Given the description of an element on the screen output the (x, y) to click on. 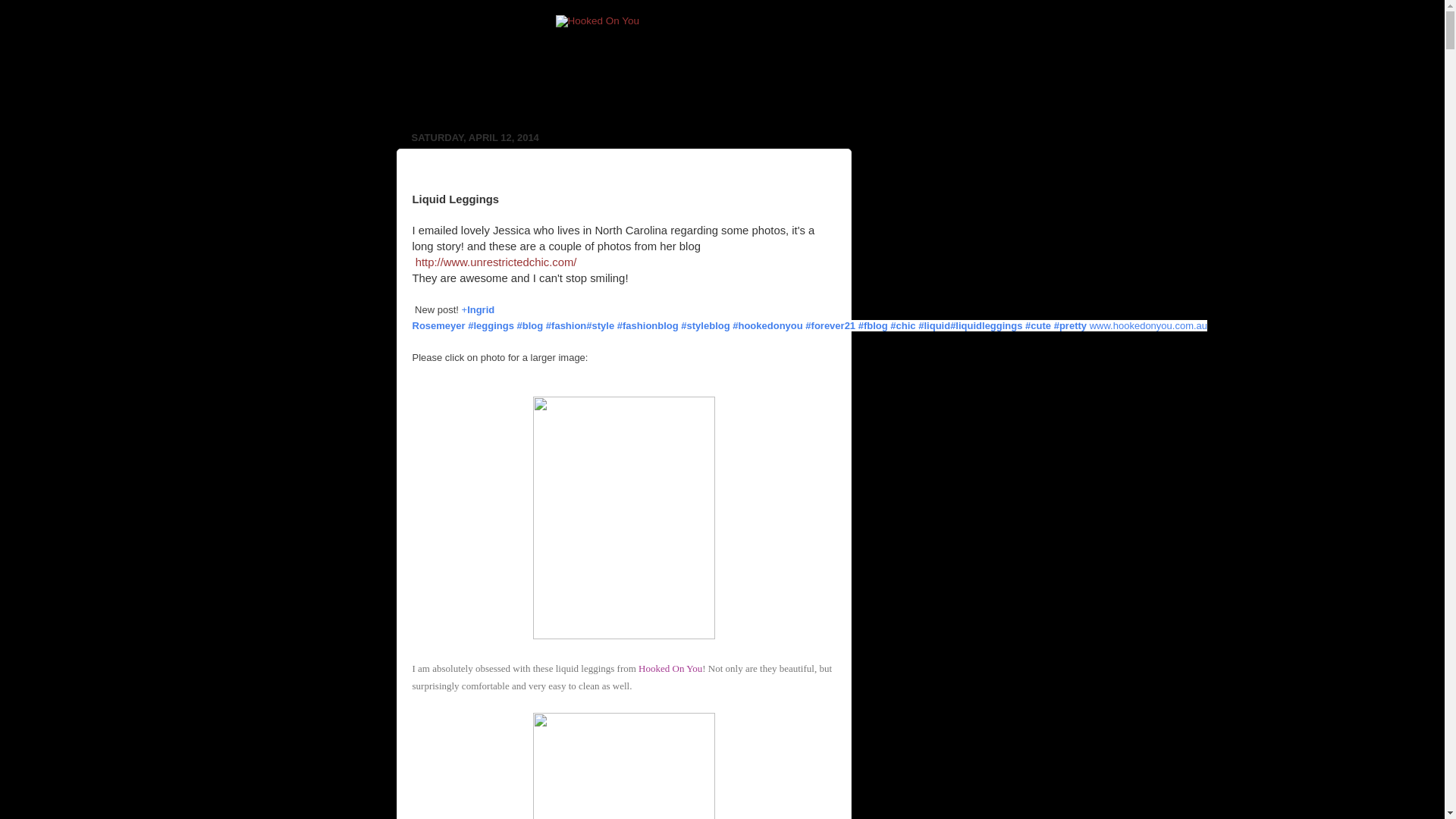
Hooked On You Element type: text (670, 668)
#chic Element type: text (902, 325)
#fashionblog Element type: text (647, 325)
#leggings Element type: text (490, 325)
#style Element type: text (600, 325)
#liquidleggings Element type: text (986, 325)
#blog Element type: text (530, 325)
#fblog Element type: text (873, 325)
www.hookedonyou.com.au Element type: text (1148, 325)
#forever21 Element type: text (830, 325)
#pretty Element type: text (1070, 325)
#styleblog Element type: text (704, 325)
#cute Element type: text (1038, 325)
Ingrid Rosemeyer Element type: text (453, 317)
http://www.unrestrictedchic.com/ Element type: text (496, 262)
#liquid Element type: text (934, 325)
#hookedonyou Element type: text (767, 325)
#fashion Element type: text (566, 325)
